Given the description of an element on the screen output the (x, y) to click on. 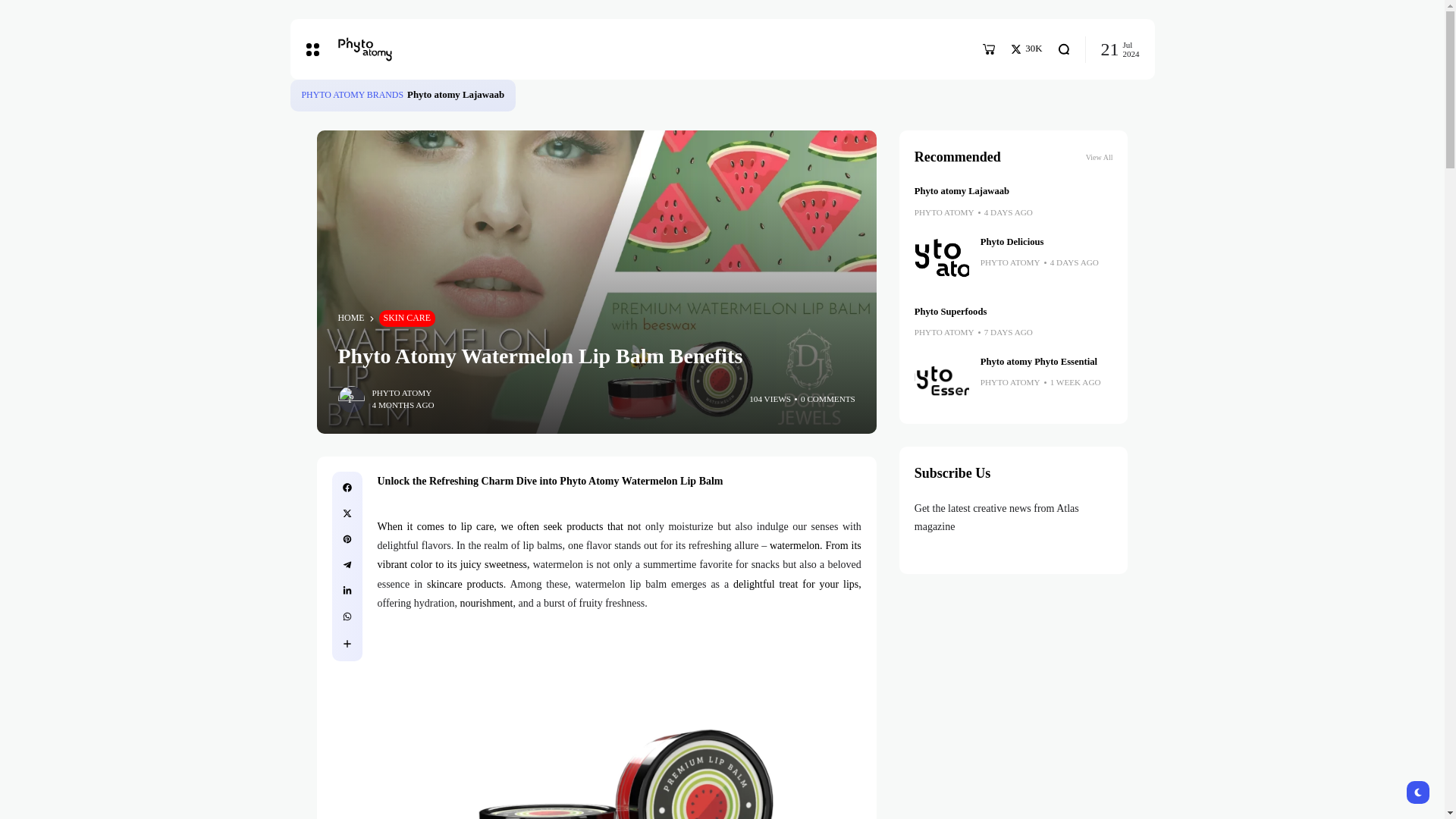
104 VIEWS (769, 399)
0 COMMENTS (828, 399)
nourishment (485, 603)
delightful treat for your lips, (797, 583)
PHYTO ATOMY BRANDS (352, 95)
Phyto atomy Lajawaab (455, 94)
skincare products (464, 583)
HOME (351, 318)
watermelon. From its vibrant color to its juicy sweetness, (619, 554)
SKIN CARE (406, 318)
When it comes to lip care, we often seek products that no (508, 526)
PHYTO ATOMY (400, 392)
Phyto atomy Lajawaab (455, 94)
Posts by Phyto Atomy (400, 392)
